Given the description of an element on the screen output the (x, y) to click on. 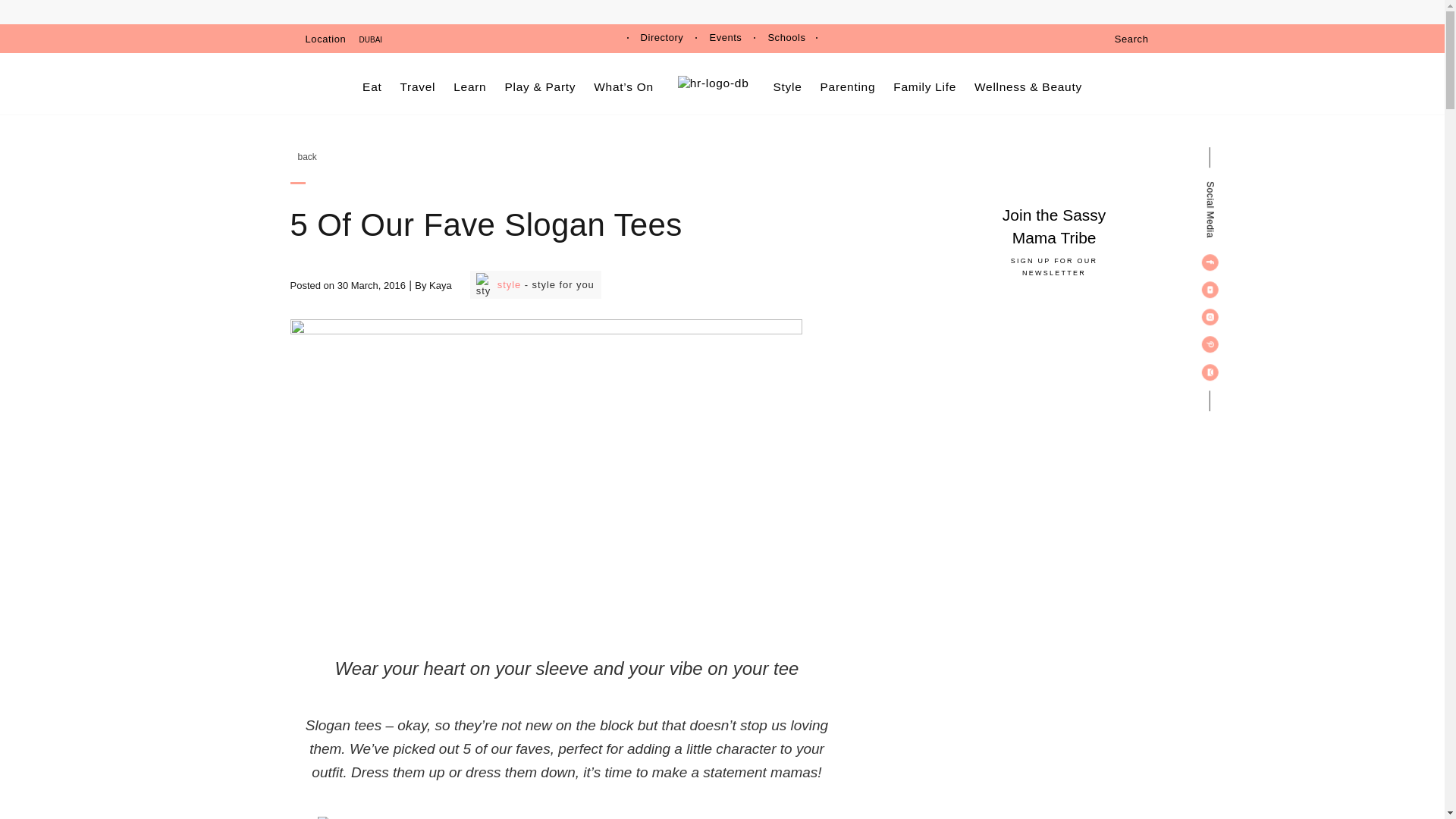
Sassy Mama Instagram (1209, 317)
Eat (371, 87)
Sassy Mama Facebook Page (1209, 262)
Learn (469, 87)
Sassy Mama Pinterest (1209, 344)
Travel (418, 87)
Sassy Mama Youtube (1209, 289)
Schools (785, 38)
